Given the description of an element on the screen output the (x, y) to click on. 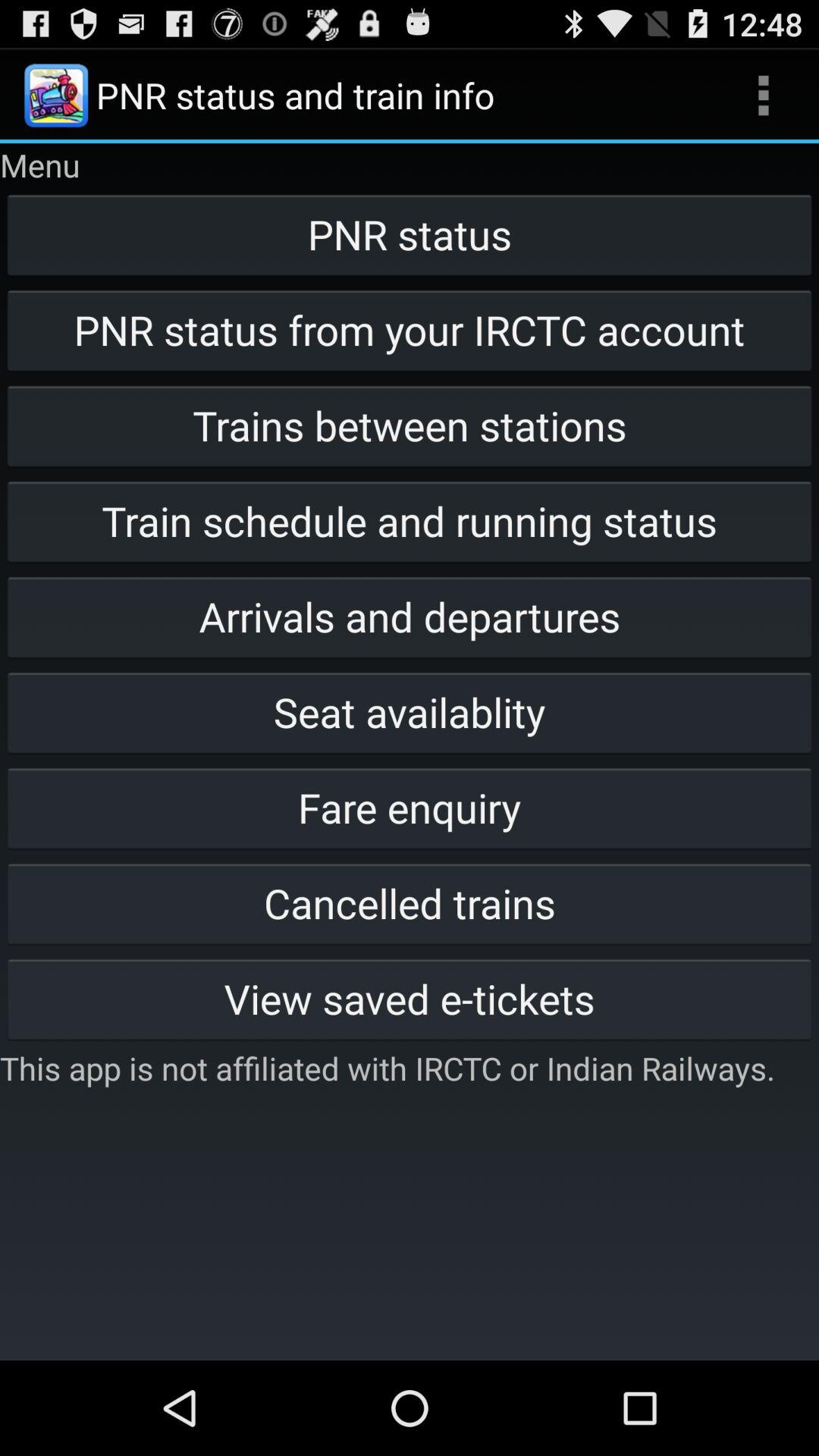
select app to the right of the pnr status and app (763, 95)
